Given the description of an element on the screen output the (x, y) to click on. 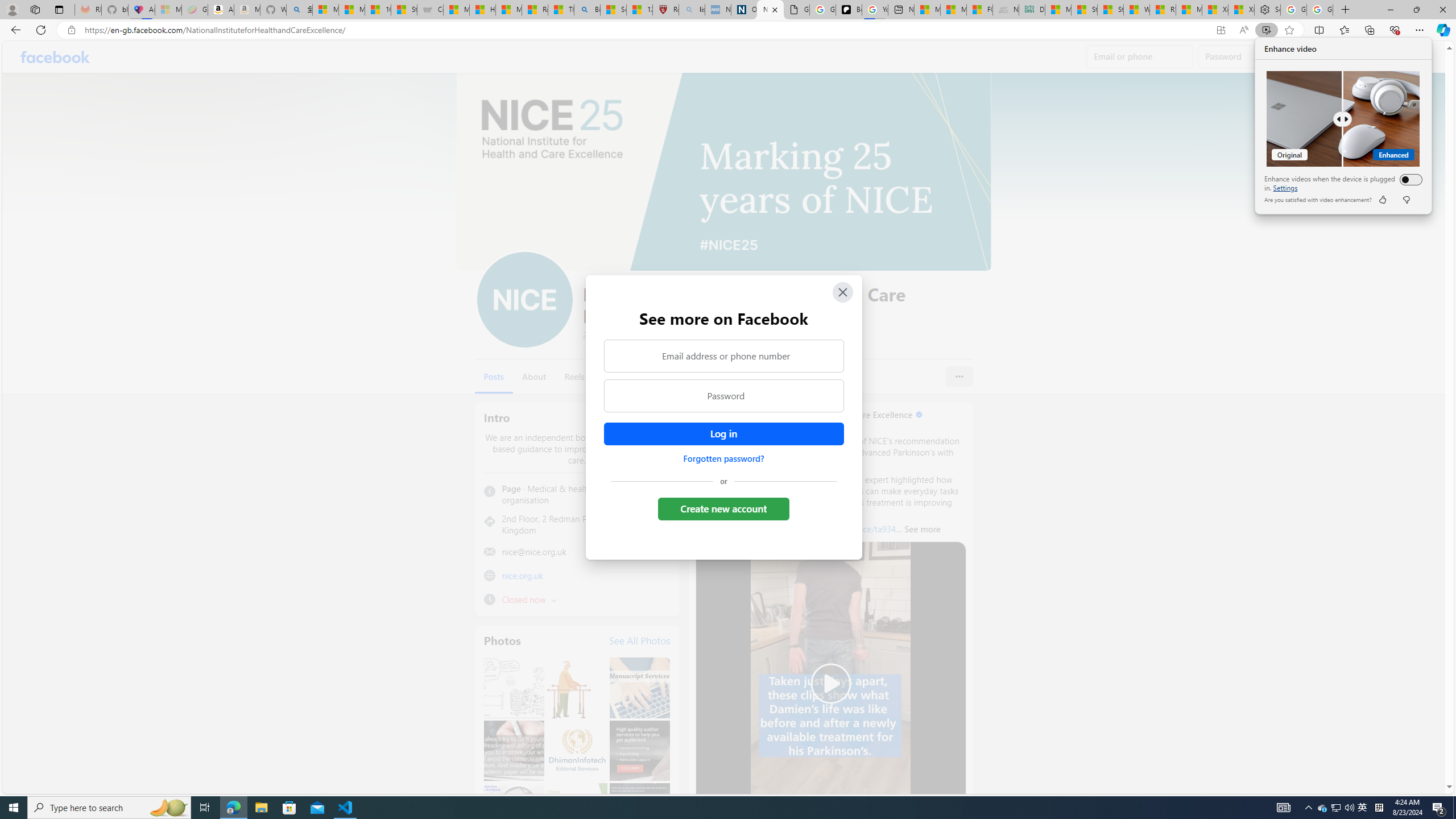
Recipes - MSN (534, 9)
Forgotten password? (723, 458)
Navy Quest (1005, 9)
Visual Studio Code - 1 running window (345, 807)
Combat Siege (430, 9)
Microsoft account | Privacy (325, 9)
Search highlights icon opens search home window (167, 807)
Close tab (775, 9)
Password (723, 395)
Be Smart | creating Science videos | Patreon (848, 9)
Tab actions menu (58, 9)
Facebook (55, 56)
Dislike (1405, 199)
